Given the description of an element on the screen output the (x, y) to click on. 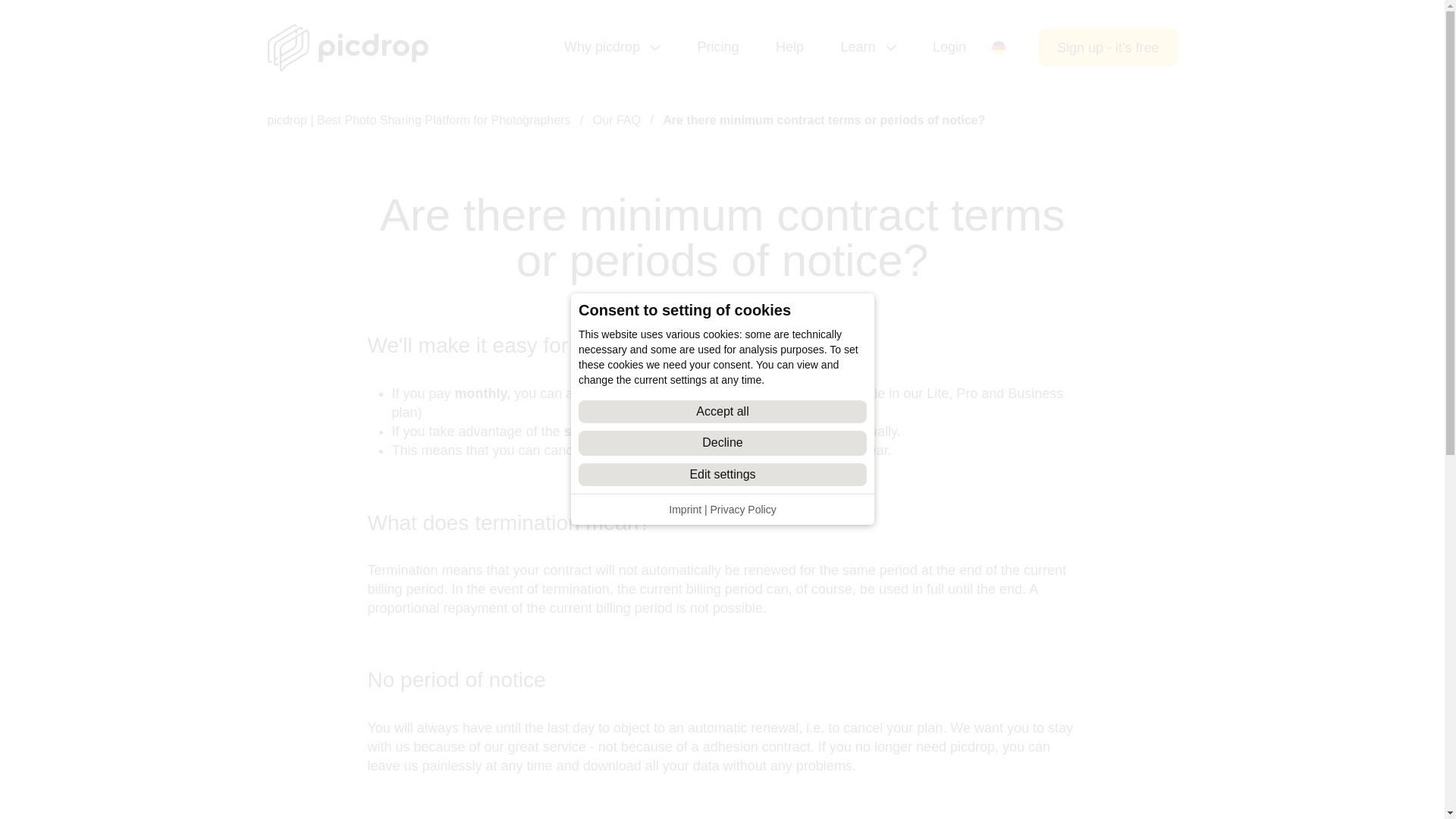
Pricing (717, 47)
Accept all (722, 411)
Login (949, 47)
Sign up - it's free (1108, 47)
Help (788, 47)
Are there minimum contract terms or periods of notice? (823, 120)
Pricing (717, 47)
Our FAQ (616, 120)
Help (788, 47)
Login (949, 47)
